Given the description of an element on the screen output the (x, y) to click on. 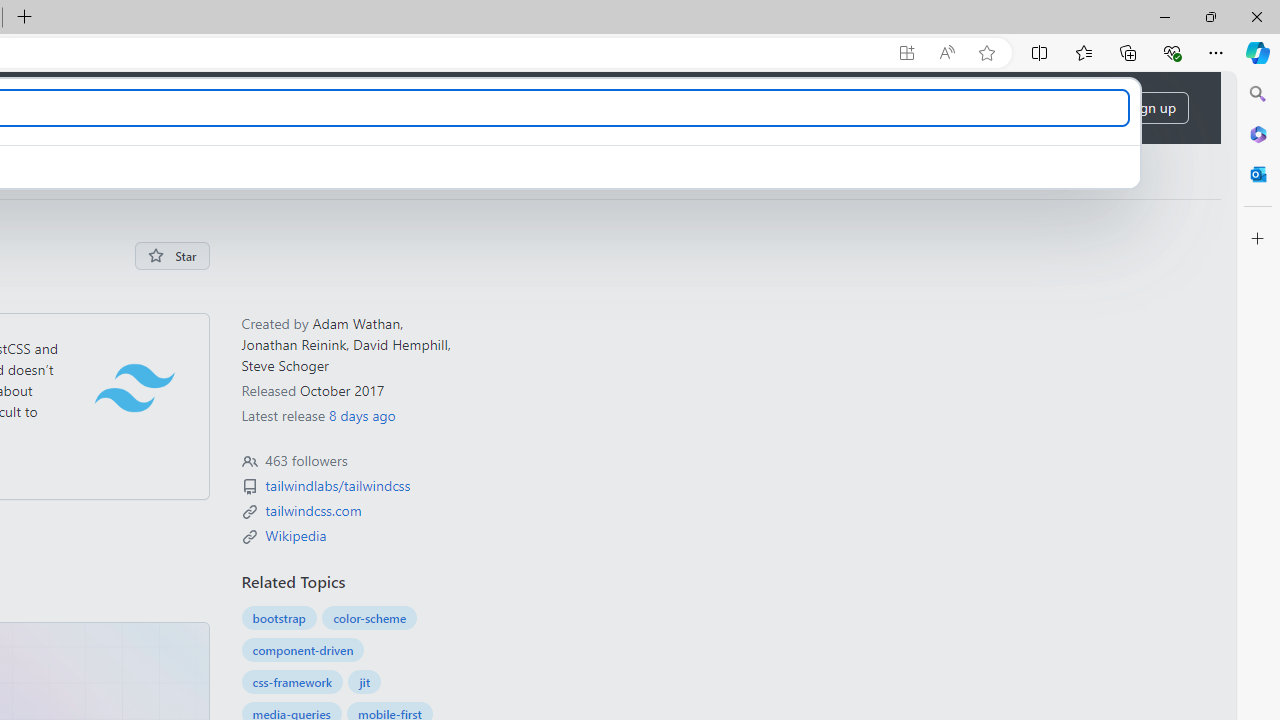
You must be signed in to star a repository (171, 255)
tailwindcss.com (313, 510)
bootstrap (278, 618)
en.wikipedia.org/wiki/Tailwind_CSS (295, 534)
Sign up (1152, 107)
component-driven (302, 649)
css-framework (292, 682)
